Given the description of an element on the screen output the (x, y) to click on. 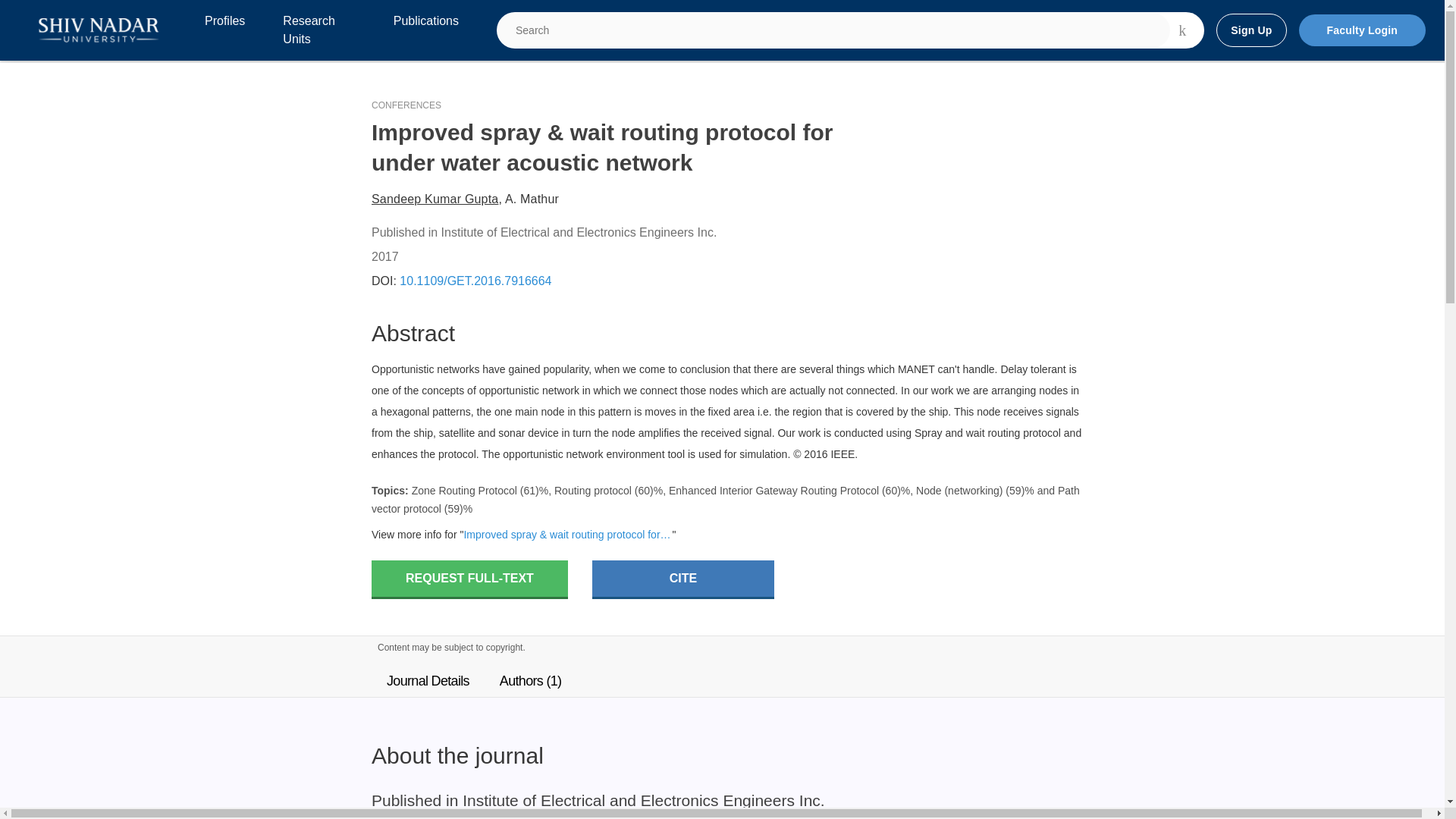
Enhanced Interior Gateway Routing Protocol (773, 490)
Research Units (318, 30)
CITE (683, 579)
Routing protocol (592, 490)
Sign Up (1250, 29)
REQUEST FULL-TEXT (469, 579)
Zone Routing Protocol (464, 490)
Path vector protocol (725, 499)
Institution logo (98, 30)
Sandeep Kumar Gupta (434, 198)
Profiles (224, 30)
Journal Details (427, 680)
Faculty Login (1361, 29)
Publications (425, 30)
